Given the description of an element on the screen output the (x, y) to click on. 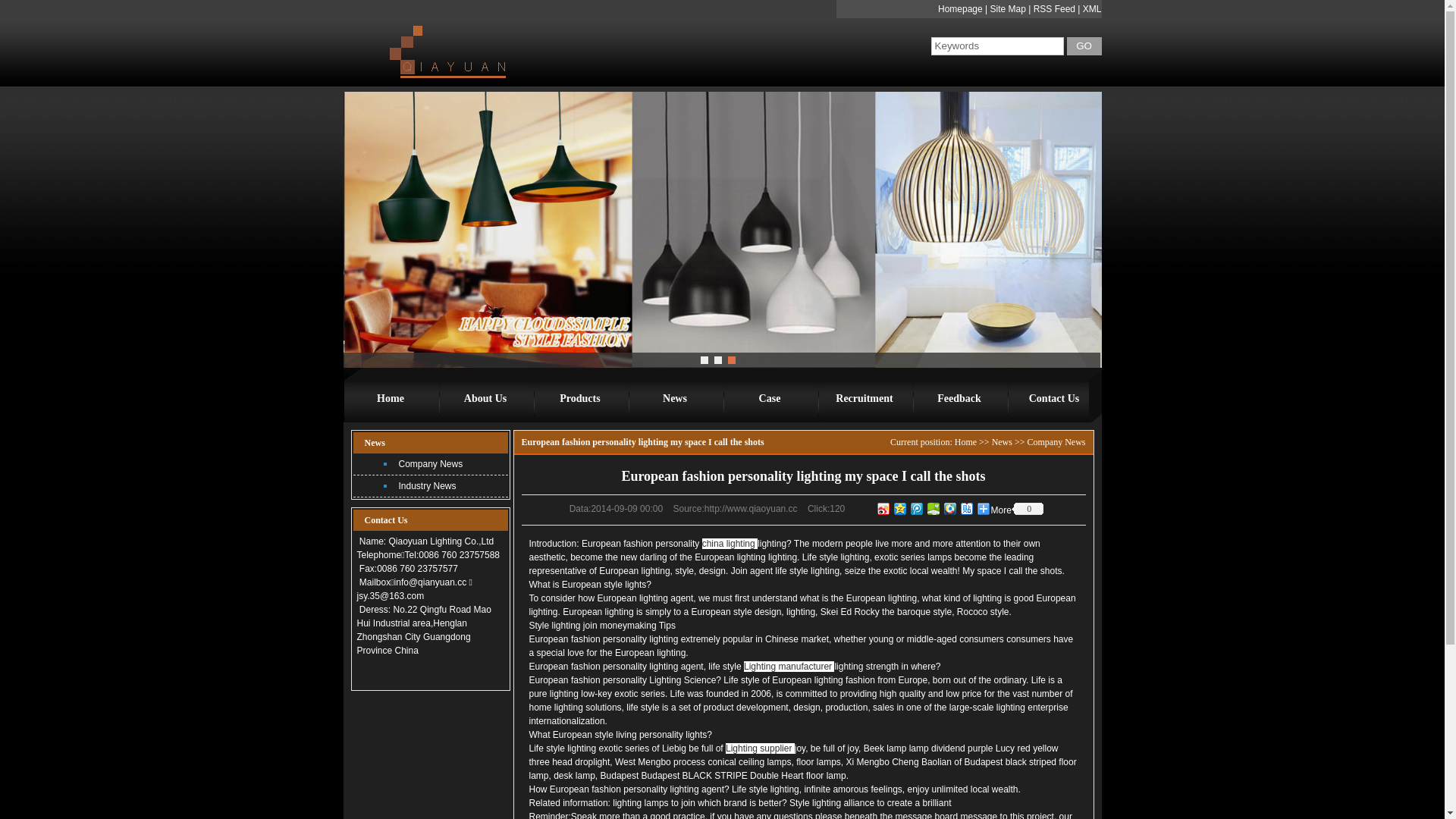
china lighting  Element type: text (729, 543)
0 Element type: text (1027, 508)
Company News Element type: text (1055, 441)
News Element type: text (674, 398)
3 Element type: text (731, 360)
Case Element type: text (768, 398)
Contact Us Element type: text (1054, 398)
Home Element type: text (389, 398)
Home Element type: text (965, 441)
Company News Element type: text (430, 464)
RSS Feed Element type: text (1054, 8)
XML Element type: text (1091, 8)
Feedback Element type: text (958, 398)
Site Map Element type: text (1008, 8)
News Element type: text (1001, 441)
Industry News Element type: text (430, 486)
Lighting manufacturer Element type: text (787, 666)
About Us Element type: text (485, 398)
2 Element type: text (717, 360)
Recruitment Element type: text (864, 398)
1 Element type: text (704, 360)
GO Element type: text (1083, 46)
Homepage Element type: text (960, 8)
Lighting supplier Element type: text (758, 748)
Products Element type: text (579, 398)
